Given the description of an element on the screen output the (x, y) to click on. 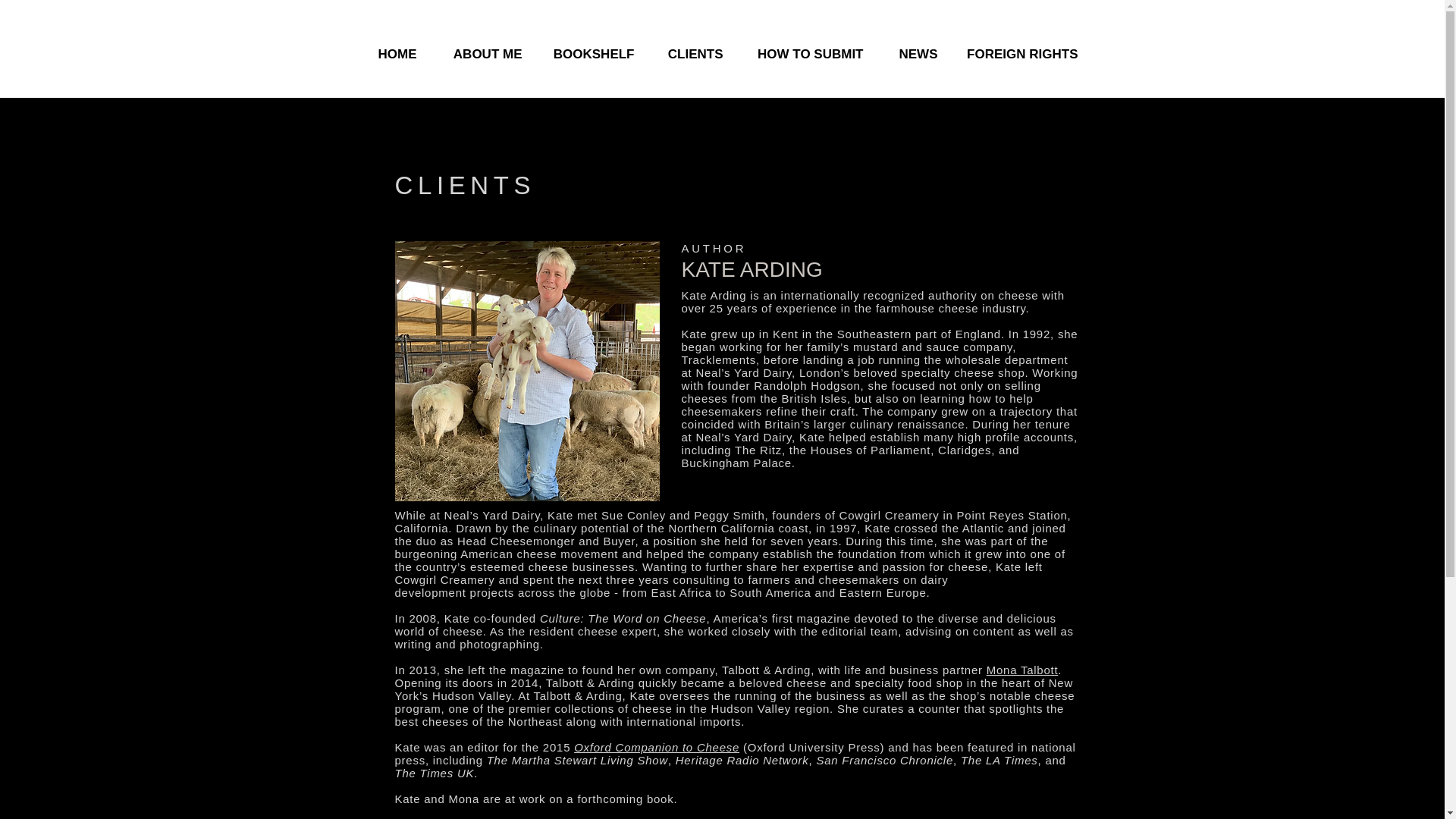
NEWS (912, 52)
HOME (389, 52)
FOREIGN RIGHTS (1019, 52)
CLIENTS (690, 52)
Mona Talbott (1022, 669)
BOOKSHELF (590, 52)
ABOUT ME (480, 52)
Oxford Companion to Cheese (656, 747)
HOW TO SUBMIT (804, 52)
